Given the description of an element on the screen output the (x, y) to click on. 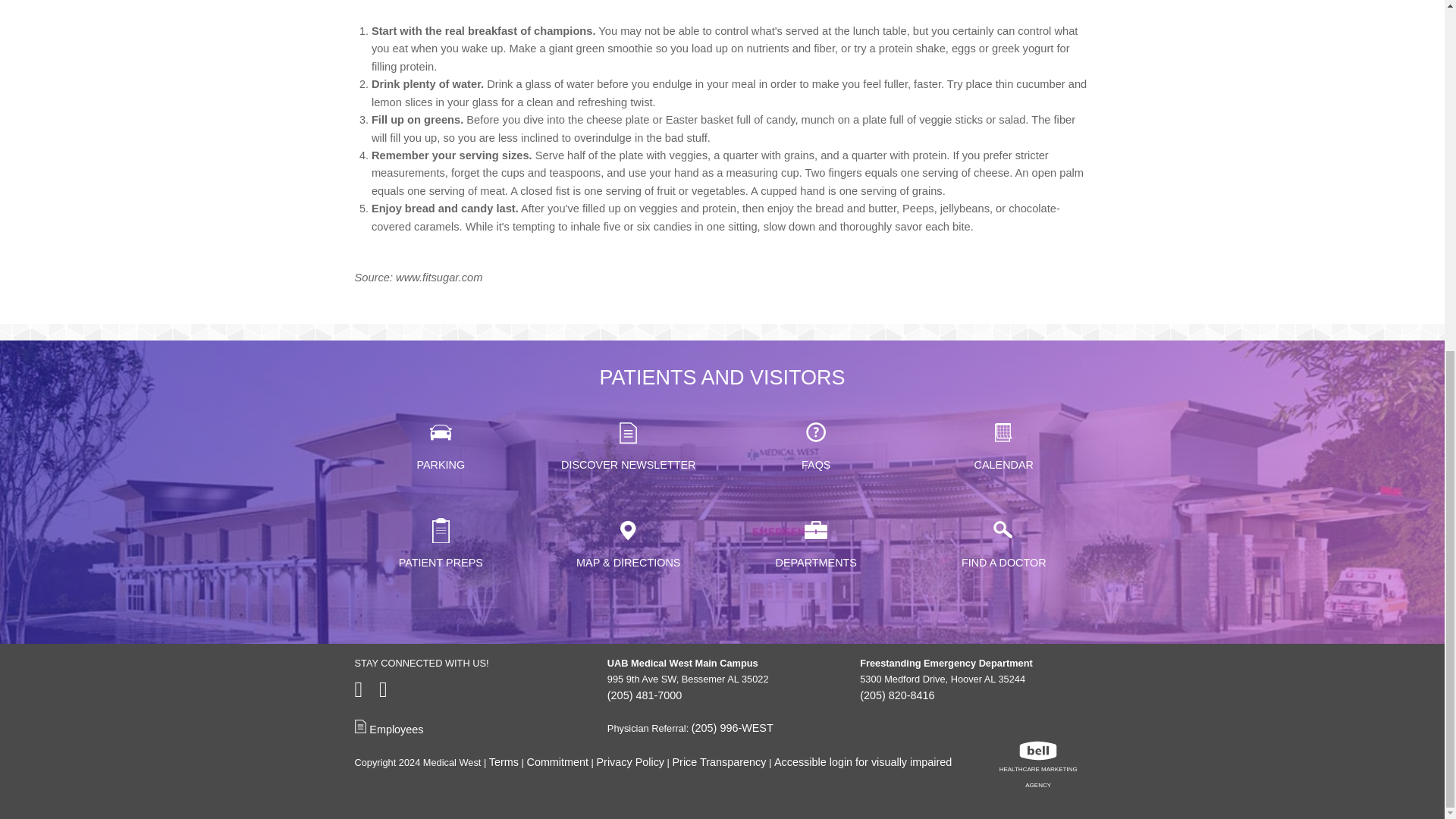
MEDICAL WEST PULMONARY HEALTH CENTER (577, 9)
MEDICAL WEST VANCE HEALTH CENTER (577, 71)
MEDICAL WEST TANNEHILL HEALTH CENTER (577, 36)
